Given the description of an element on the screen output the (x, y) to click on. 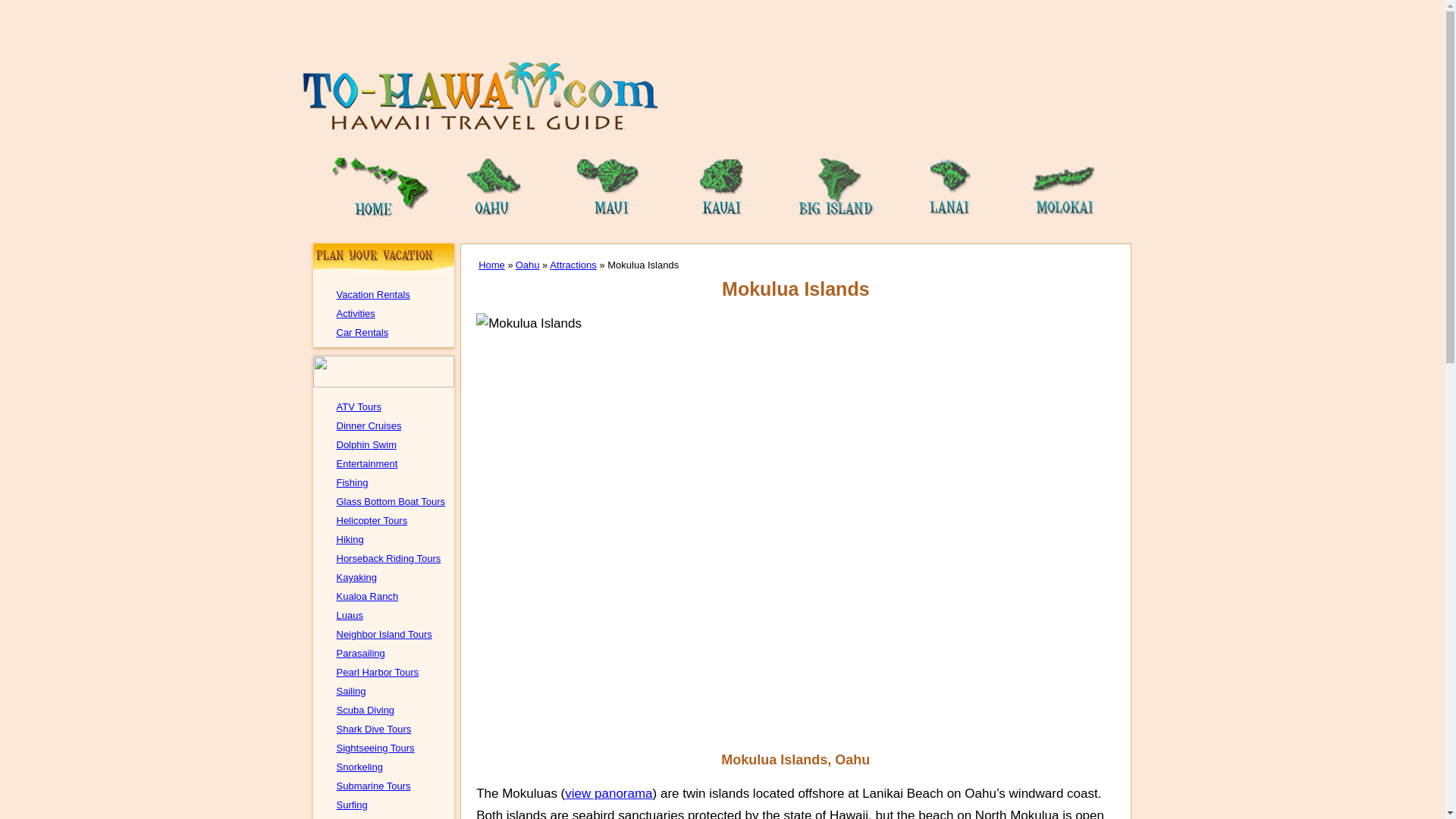
Dinner Cruises (368, 425)
Scuba Diving (365, 709)
Kualoa Ranch (367, 595)
Pearl Harbor Tours (377, 672)
Snorkeling (359, 767)
Sailing (351, 690)
Neighbor Island Tours (384, 633)
Fishing (352, 482)
Glass Bottom Boat Tours (390, 501)
Activities (355, 313)
